Given the description of an element on the screen output the (x, y) to click on. 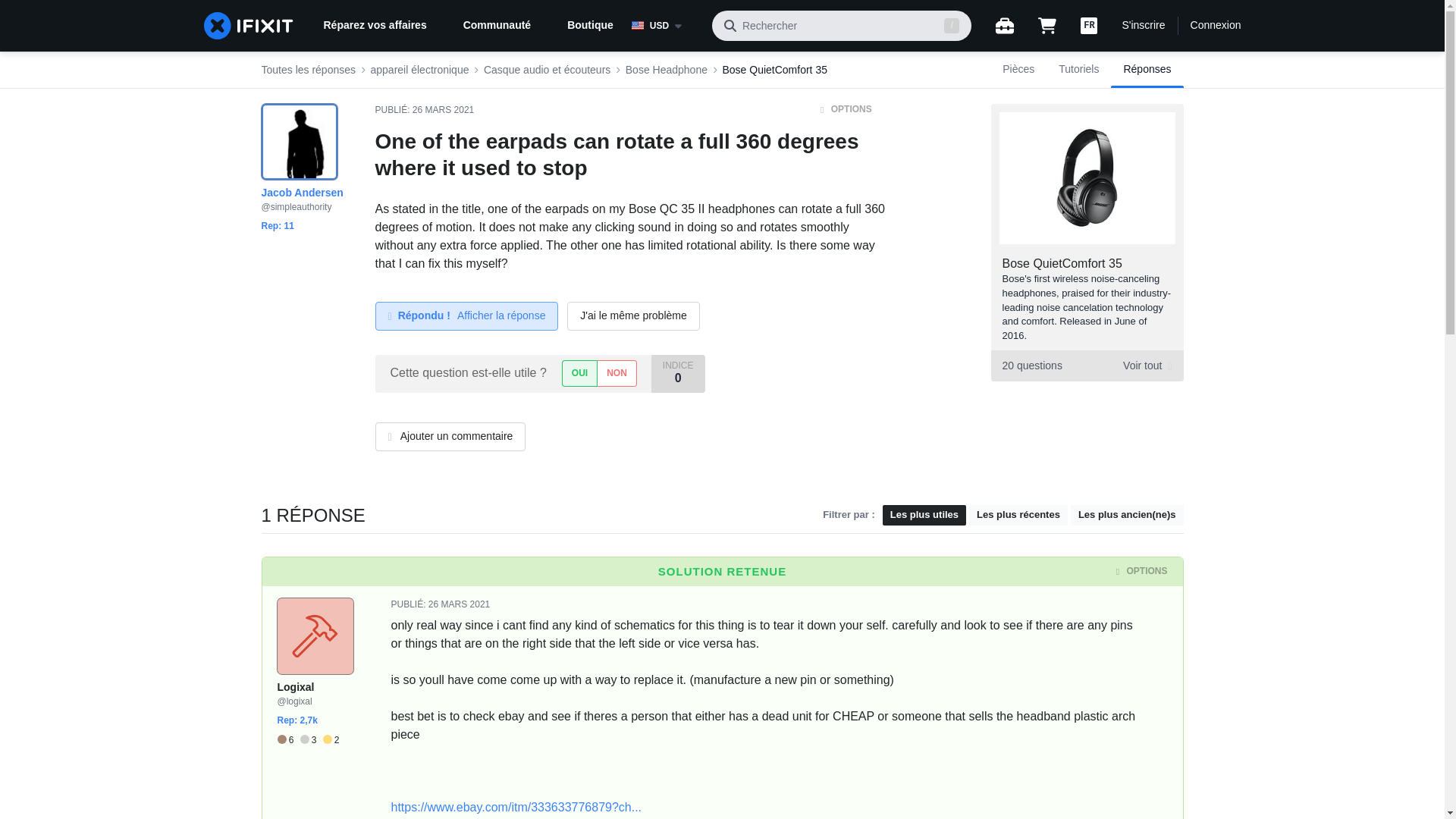
USD (665, 25)
Fri, 26 Mar 2021 06:43:37 -0700 (443, 109)
Bose Headphone (666, 69)
2 badges Or (331, 739)
3 badges Argent (311, 739)
Fri, 26 Mar 2021 07:36:31 -0700 (458, 603)
6 badges Bronze (288, 739)
Bose QuietComfort 35 (1086, 365)
Connexion (1062, 263)
